Given the description of an element on the screen output the (x, y) to click on. 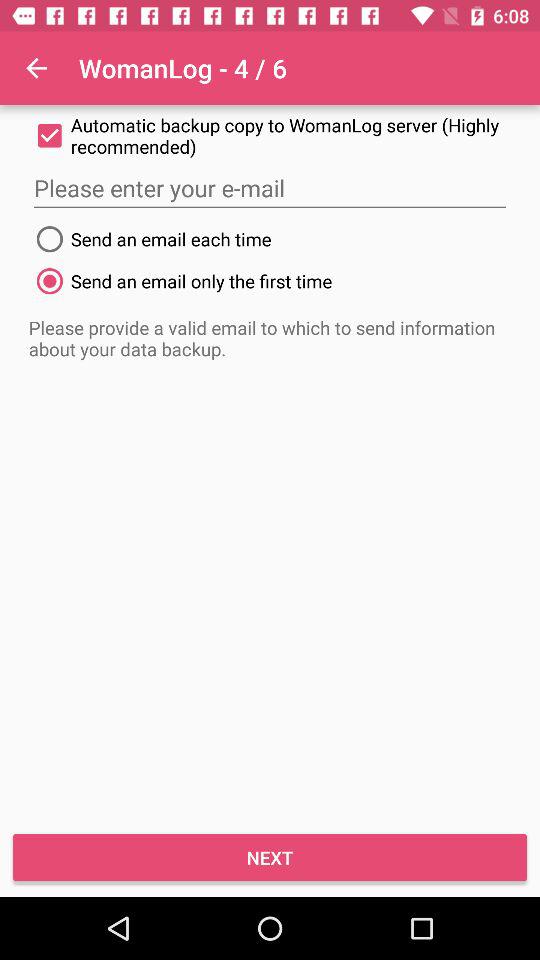
click the next (269, 857)
